Given the description of an element on the screen output the (x, y) to click on. 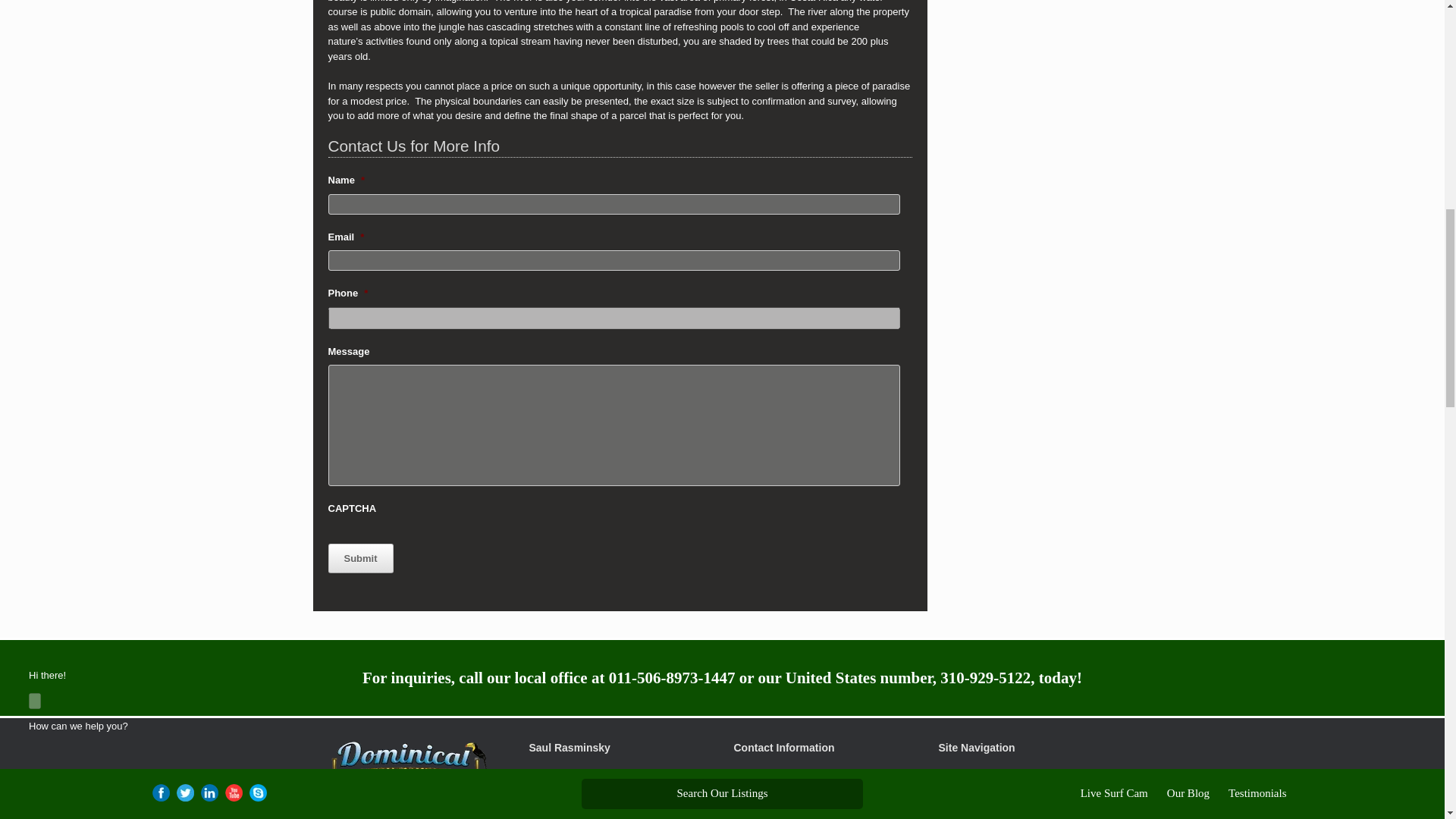
Submit (360, 558)
Submit (360, 558)
